Given the description of an element on the screen output the (x, y) to click on. 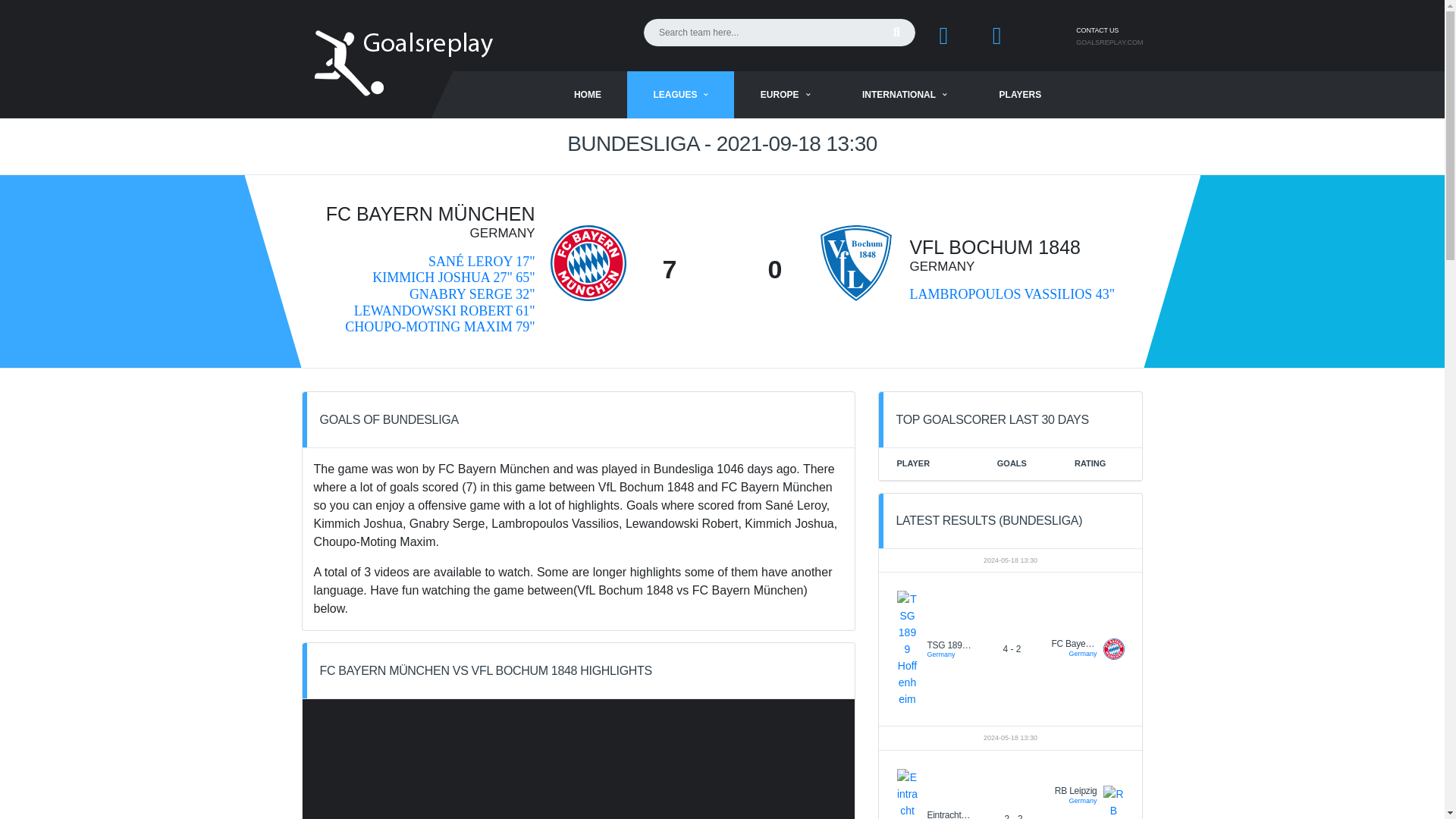
LEAGUES (680, 94)
EUROPE (785, 94)
HOME (587, 94)
KIMMICH JOSHUA 27" 65" (453, 277)
GNABRY SERGE 32" (472, 294)
VFL BOCHUM 1848 (994, 246)
LEWANDOWSKI ROBERT 61" (444, 310)
GOALSREPLAY.COM (1108, 42)
INTERNATIONAL (903, 94)
CHOUPO-MOTING MAXIM 79" (439, 326)
PLAYERS (1020, 94)
LAMBROPOULOS VASSILIOS 43" (1011, 294)
